Given the description of an element on the screen output the (x, y) to click on. 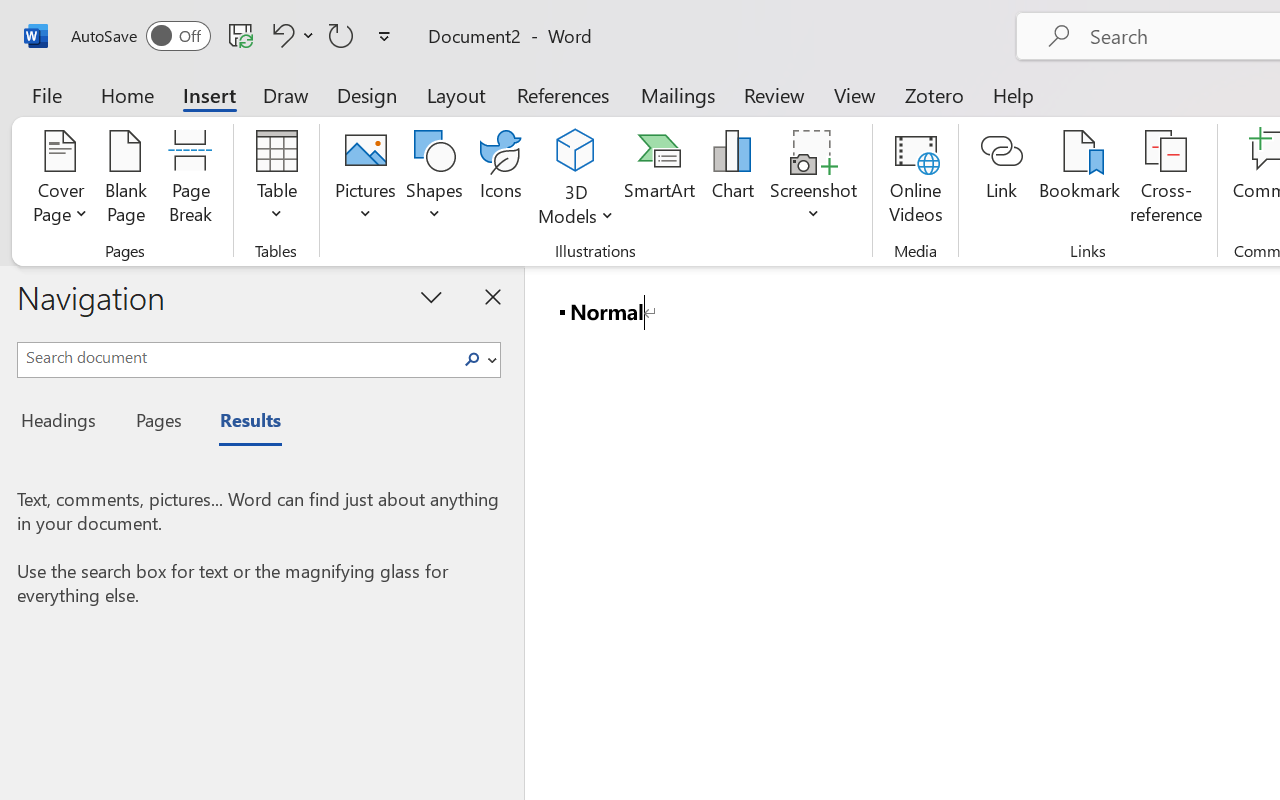
Help (1013, 94)
Design (367, 94)
Mailings (678, 94)
Cross-reference... (1165, 179)
Link (1001, 179)
Screenshot (813, 179)
SmartArt... (659, 179)
Blank Page (125, 179)
Page Break (190, 179)
Task Pane Options (431, 296)
Headings (64, 423)
Online Videos... (915, 179)
